Given the description of an element on the screen output the (x, y) to click on. 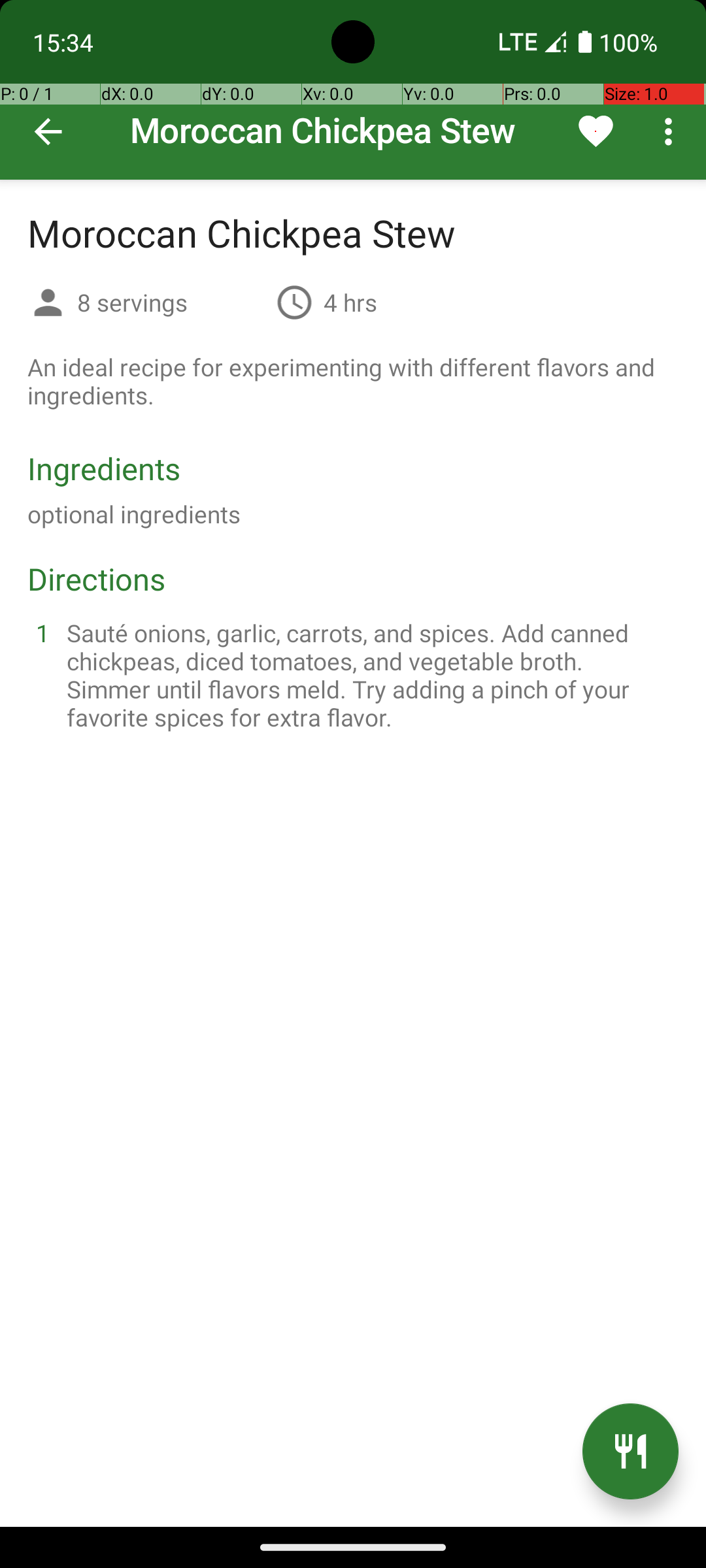
Sauté onions, garlic, carrots, and spices. Add canned chickpeas, diced tomatoes, and vegetable broth. Simmer until flavors meld. Try adding a pinch of your favorite spices for extra flavor. Element type: android.widget.TextView (368, 674)
